Given the description of an element on the screen output the (x, y) to click on. 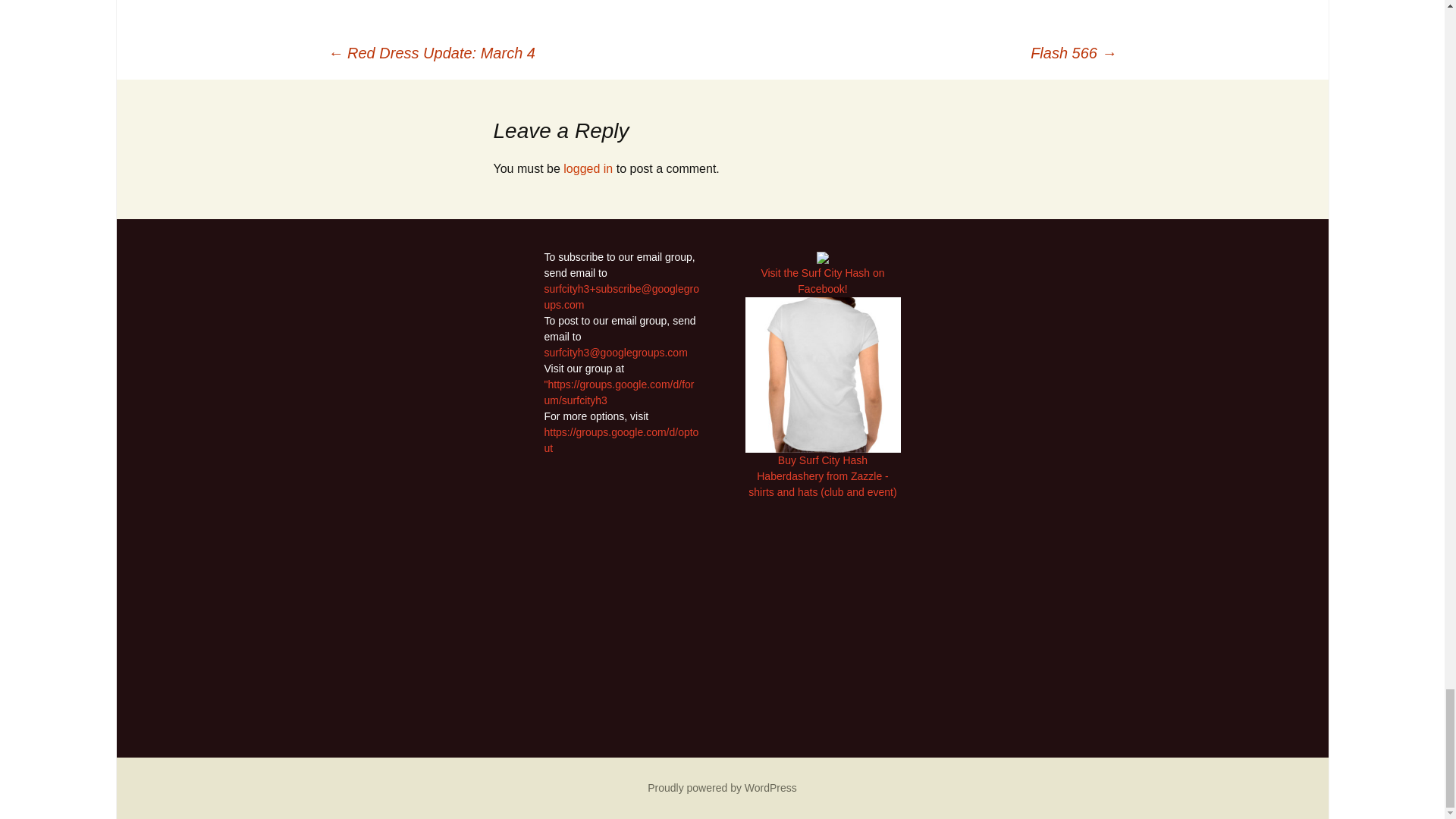
logged in (587, 168)
